Given the description of an element on the screen output the (x, y) to click on. 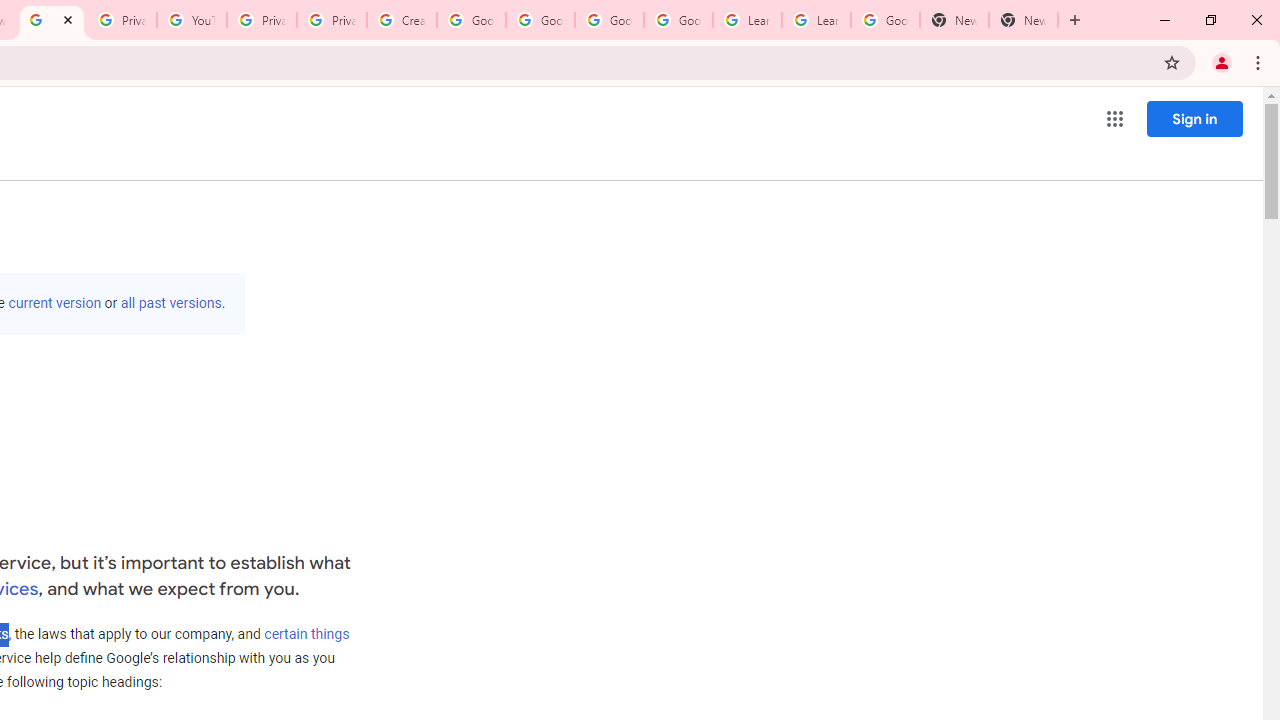
Google Account Help (677, 20)
all past versions (170, 303)
Create your Google Account (401, 20)
